Given the description of an element on the screen output the (x, y) to click on. 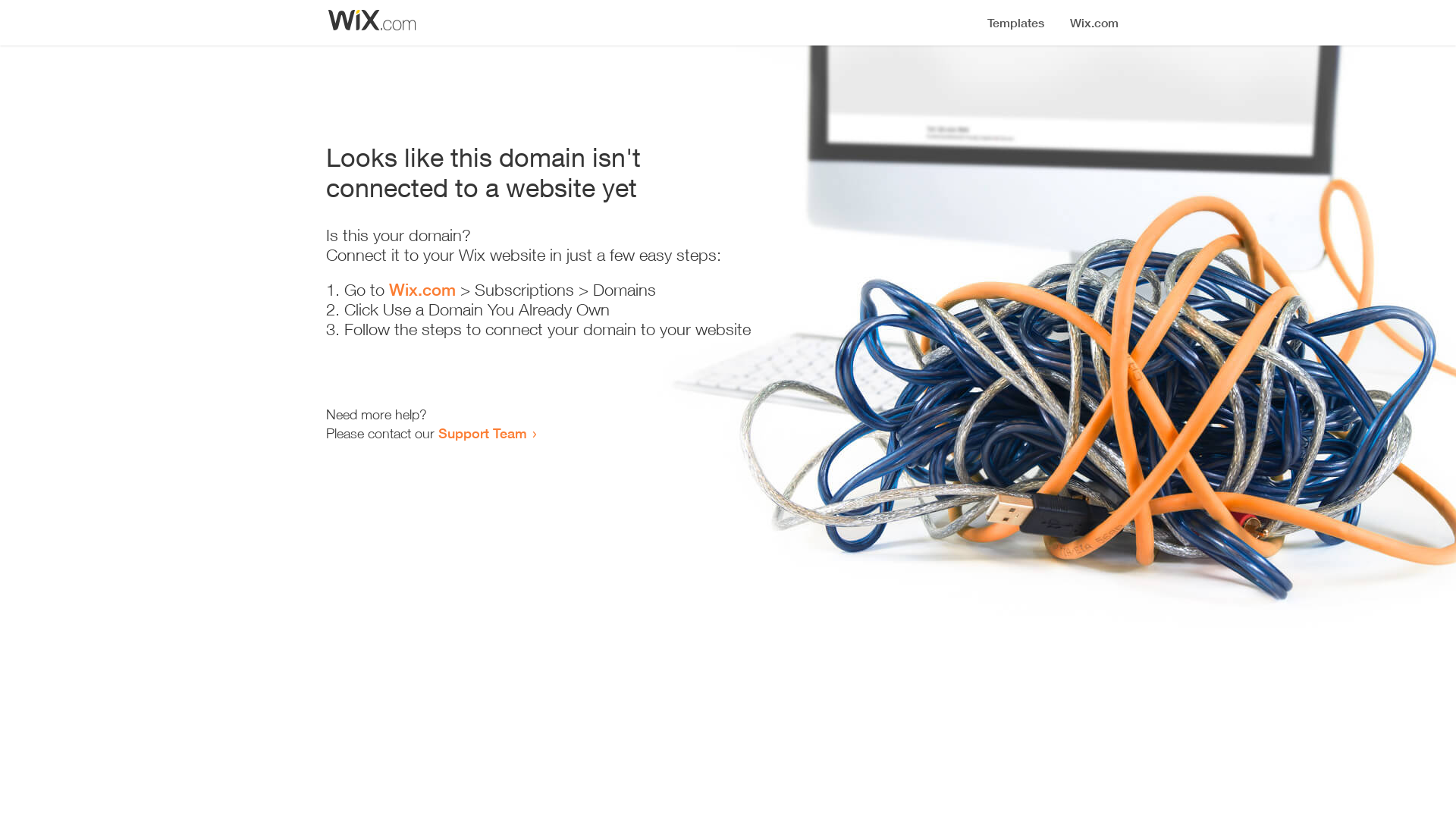
Wix.com Element type: text (422, 289)
Support Team Element type: text (482, 432)
